Given the description of an element on the screen output the (x, y) to click on. 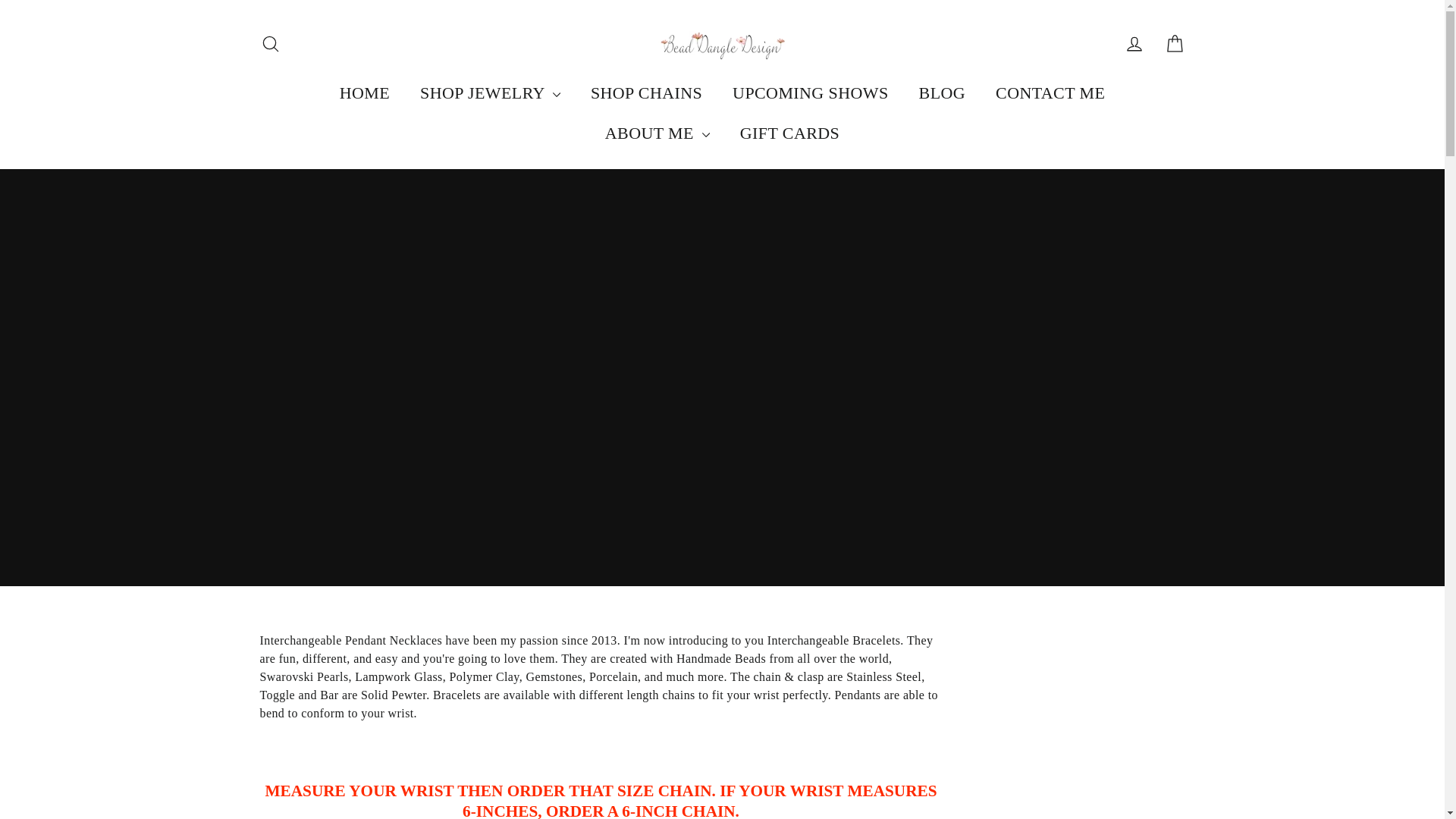
Log in (1134, 43)
Cart (1173, 43)
SHOP JEWELRY (489, 92)
Search (269, 43)
HOME (364, 92)
